Given the description of an element on the screen output the (x, y) to click on. 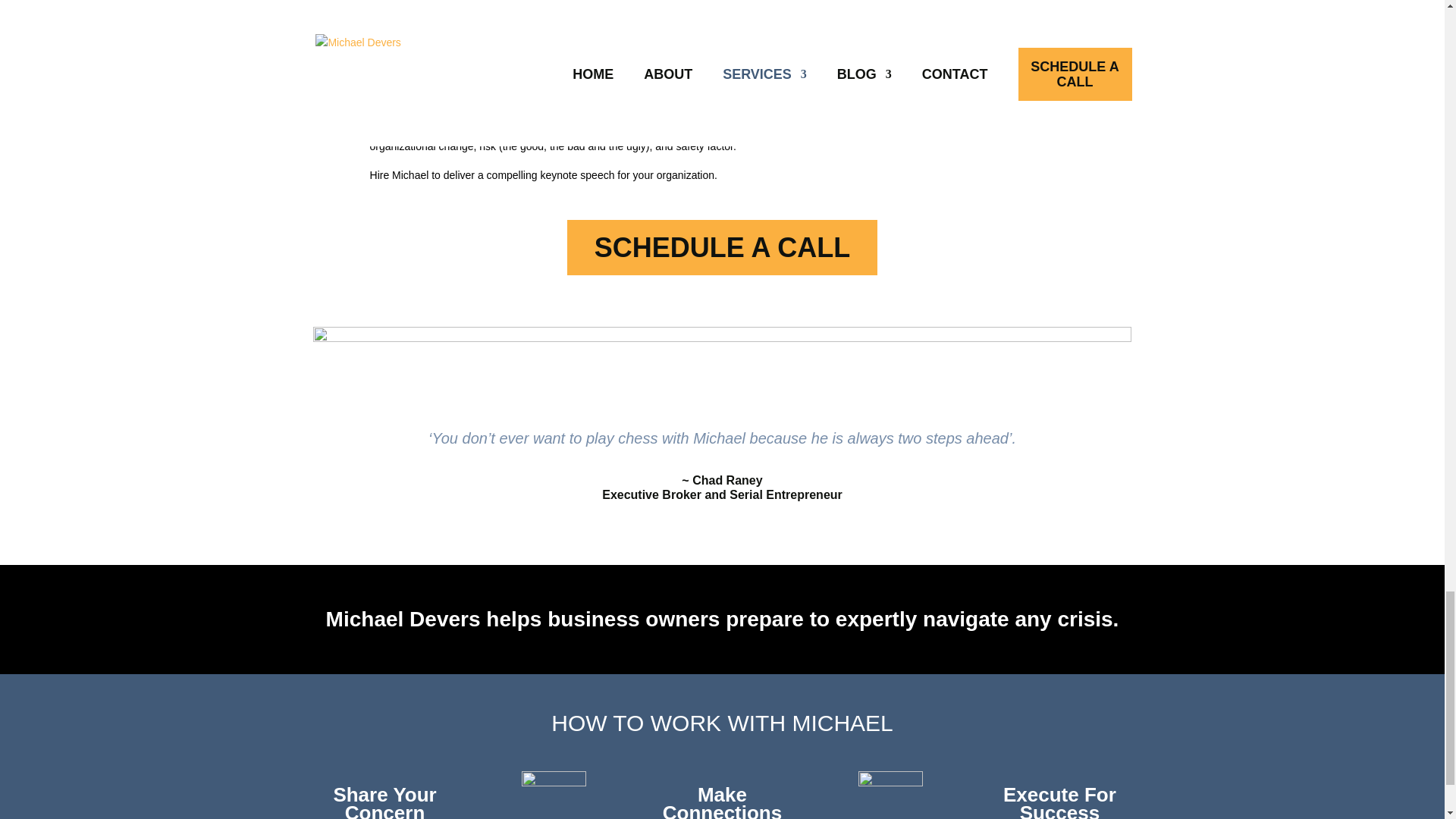
crisis leadership (1067, 128)
SCHEDULE A CALL (722, 247)
